Given the description of an element on the screen output the (x, y) to click on. 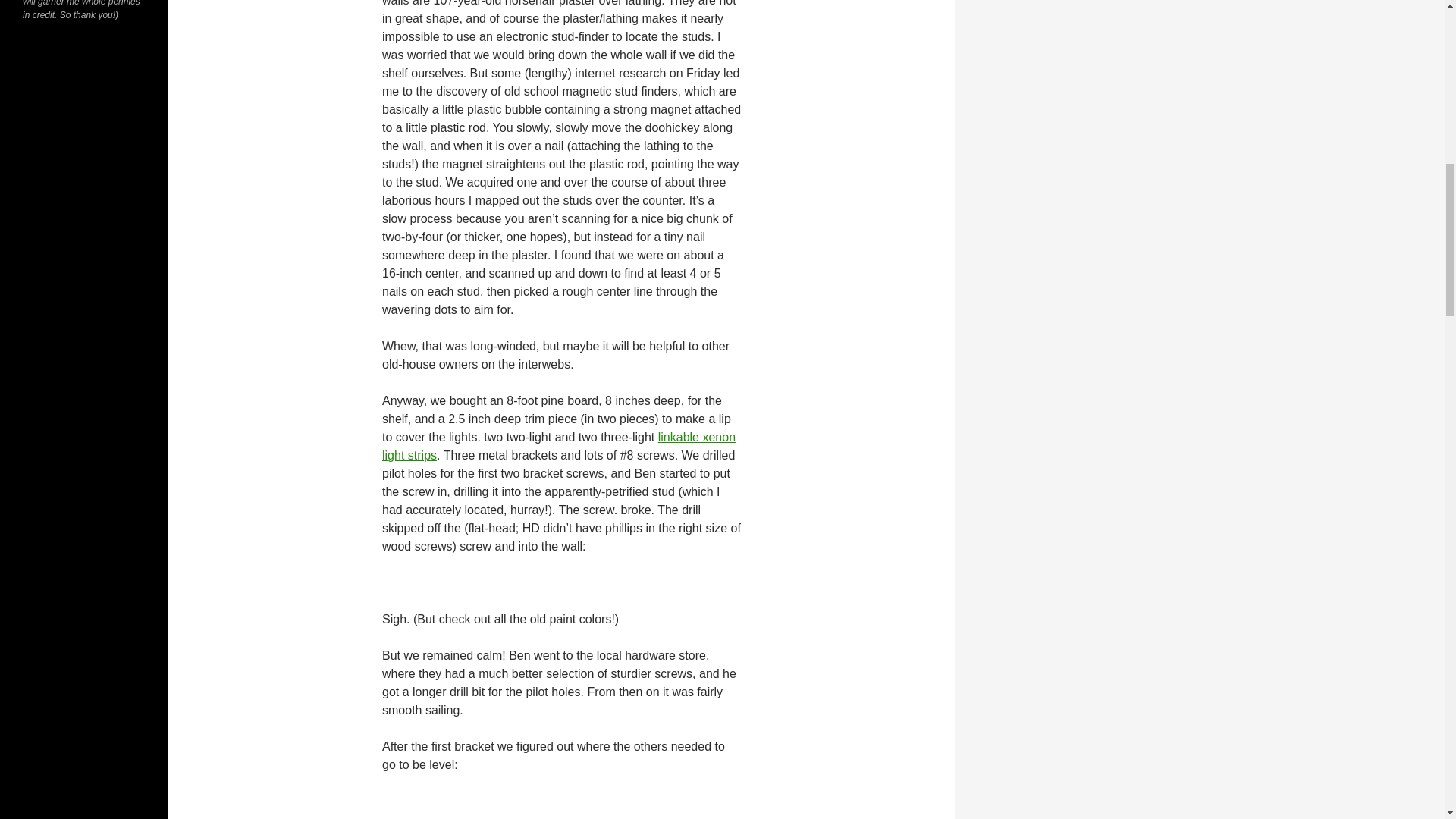
linkable xenon light strips (558, 445)
